Given the description of an element on the screen output the (x, y) to click on. 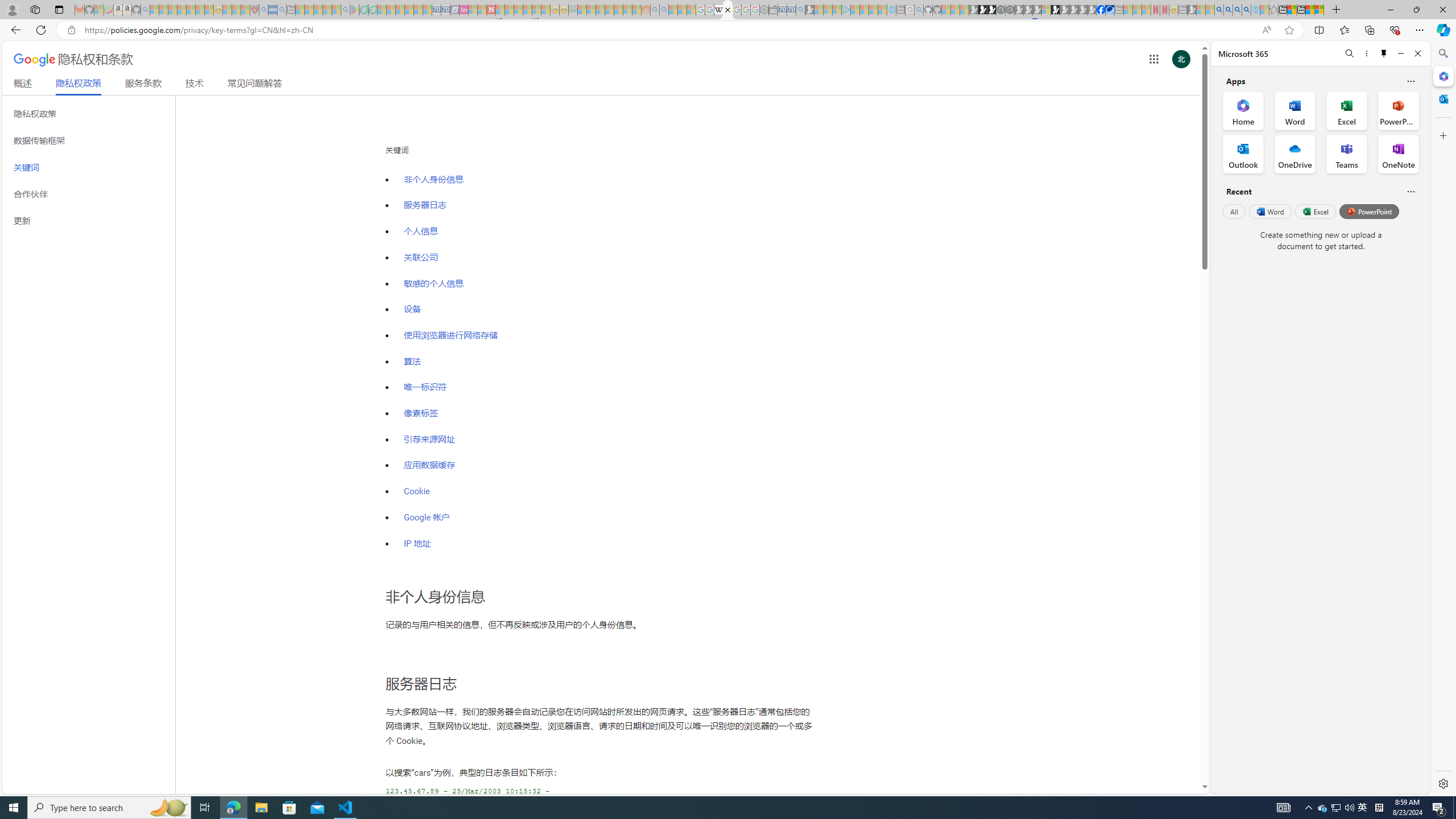
Home Office App (1243, 110)
AirNow.gov (1109, 9)
All (1233, 210)
